Given the description of an element on the screen output the (x, y) to click on. 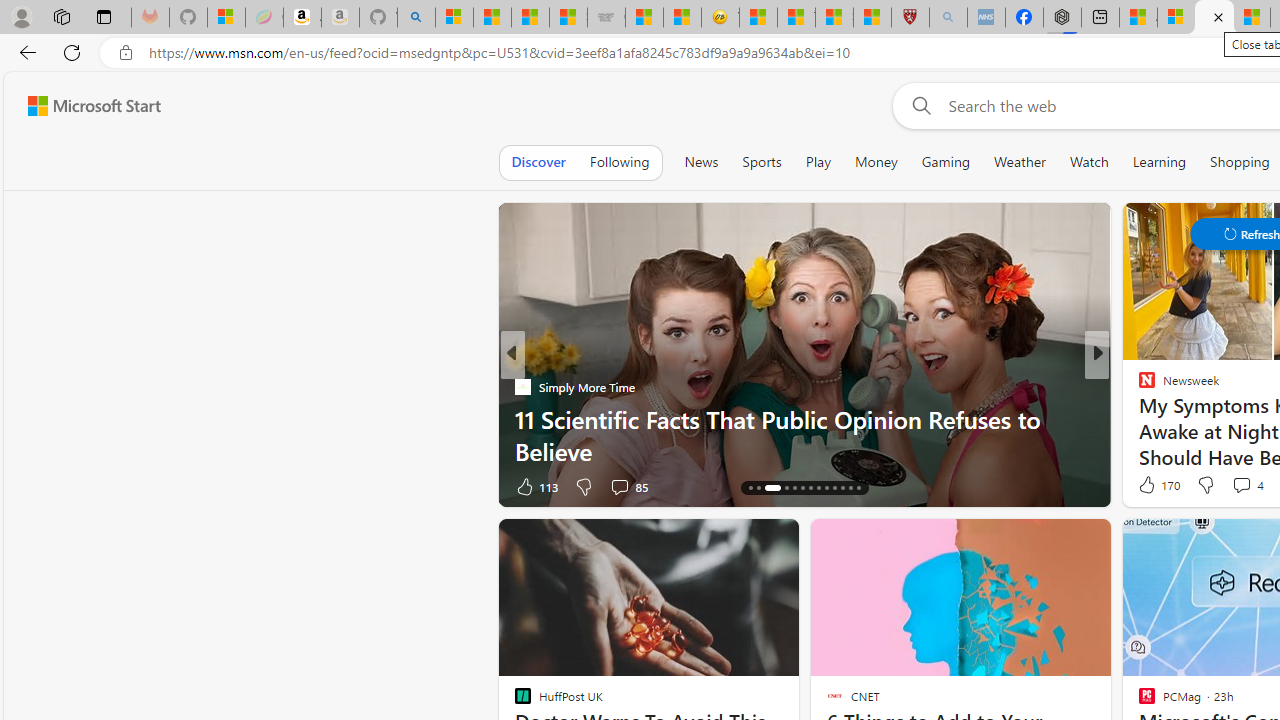
View comments 18 Comment (1234, 485)
Recipes - MSN (757, 17)
AutomationID: tab-21 (818, 487)
76 Like (1149, 486)
AutomationID: tab-26 (857, 487)
Sports (761, 161)
AutomationID: tab-23 (833, 487)
Stacker (1138, 386)
